Given the description of an element on the screen output the (x, y) to click on. 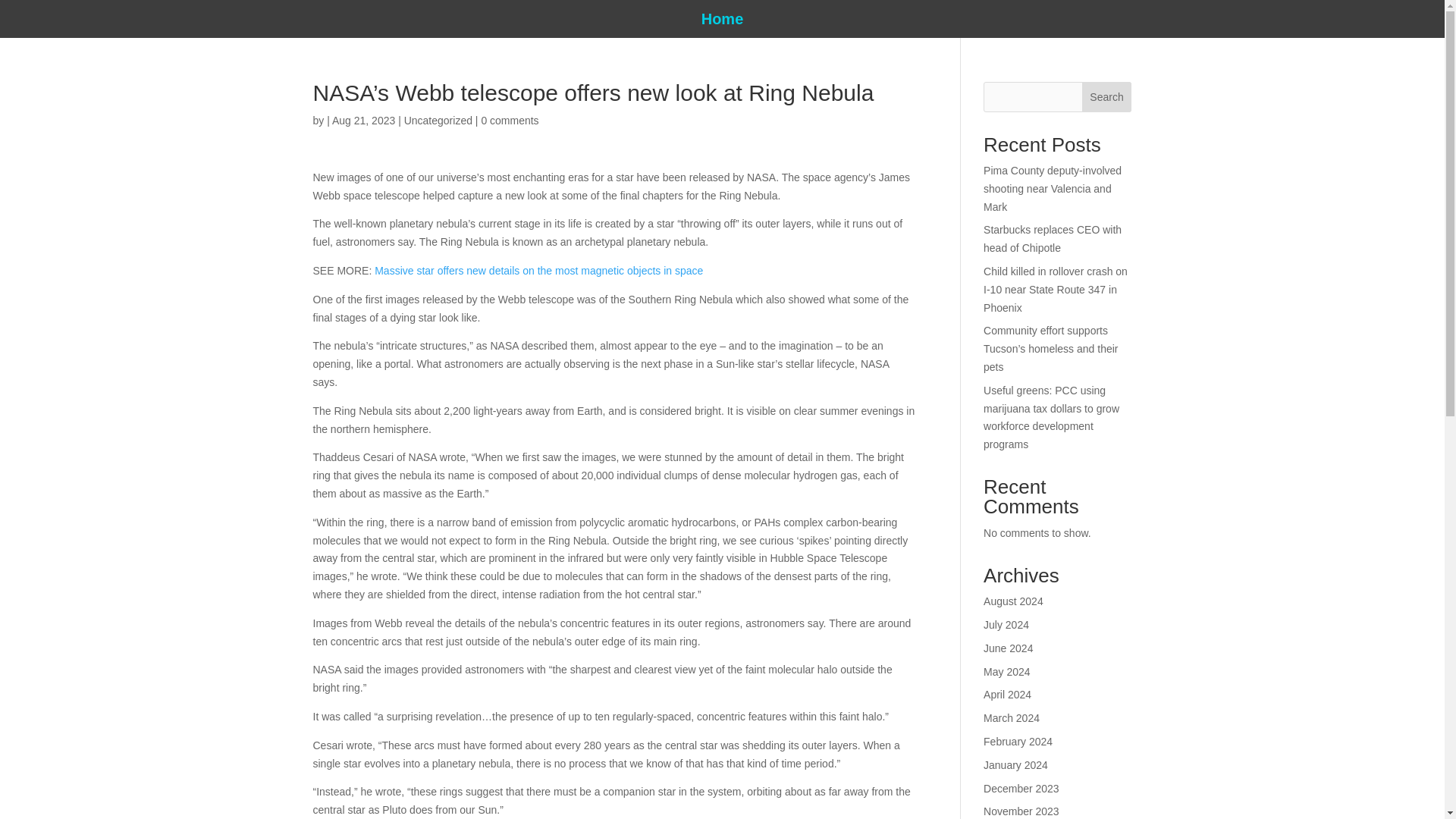
June 2024 (1008, 648)
Starbucks replaces CEO with head of Chipotle (1052, 238)
Home (722, 21)
Search (1106, 96)
Uncategorized (437, 120)
August 2024 (1013, 601)
July 2024 (1006, 624)
Pima County deputy-involved shooting near Valencia and Mark (1052, 188)
March 2024 (1011, 717)
